Given the description of an element on the screen output the (x, y) to click on. 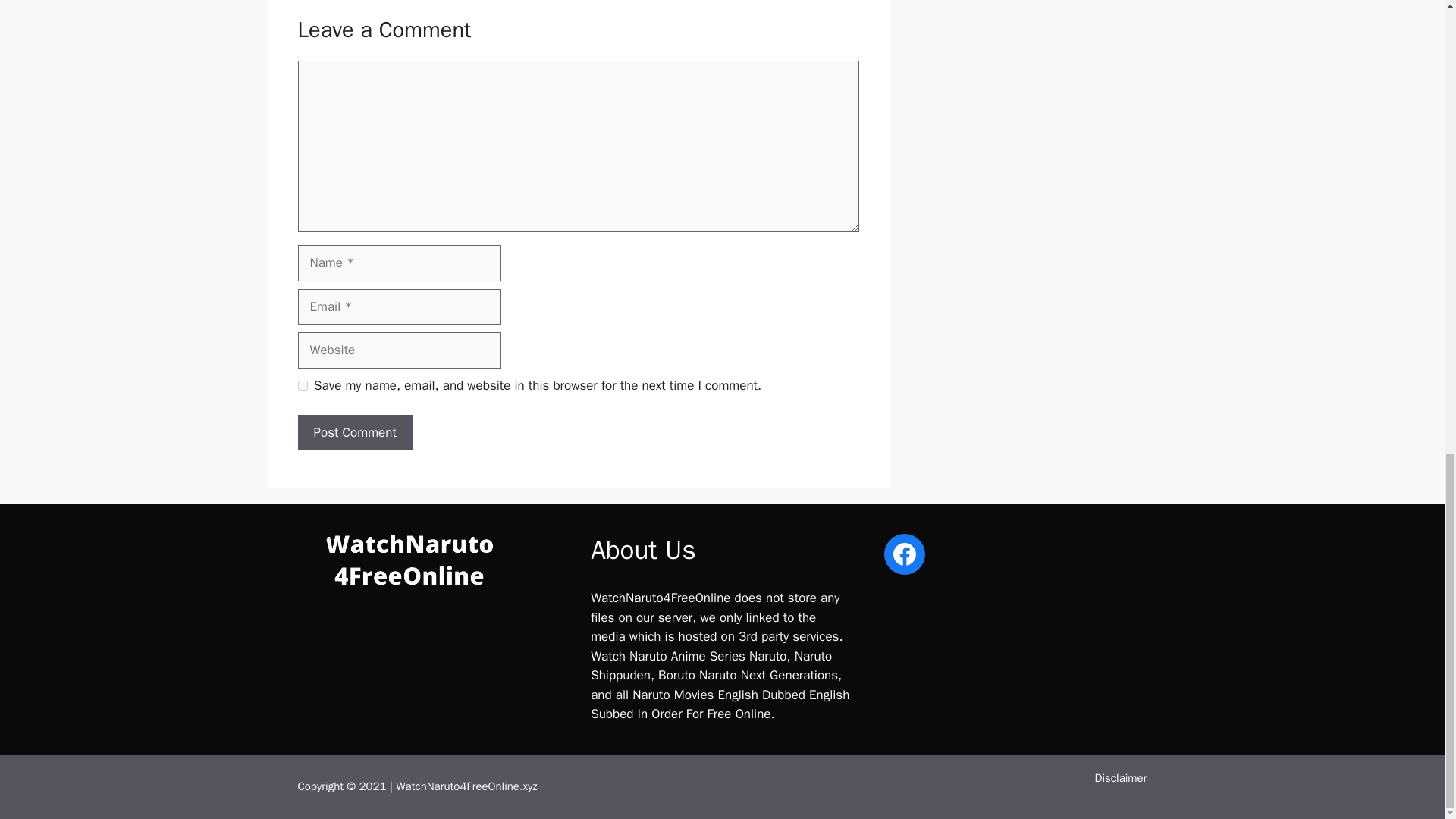
yes (302, 385)
Post Comment (354, 432)
Post Comment (354, 432)
Disclaimer (1120, 777)
WatchNaruto4FreeOnline.xyz (466, 786)
Facebook (903, 553)
